Given the description of an element on the screen output the (x, y) to click on. 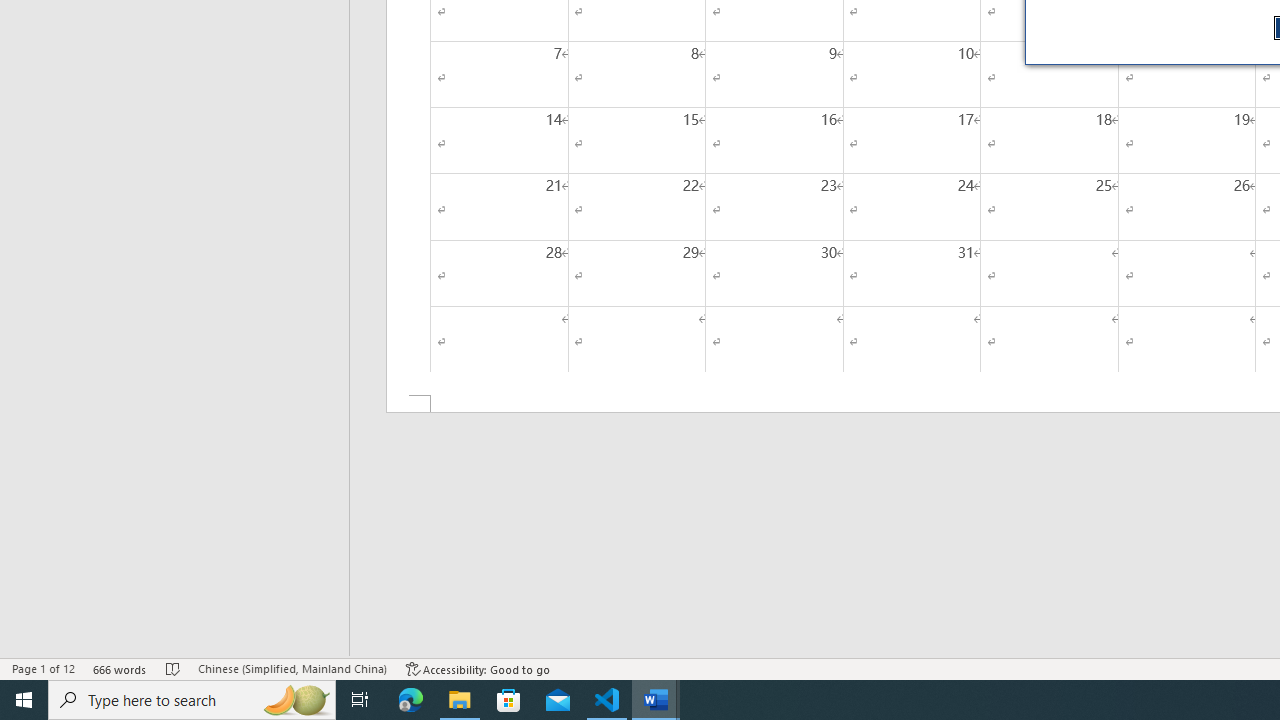
Word Count 666 words (119, 668)
Page Number Page 1 of 12 (43, 668)
File Explorer - 1 running window (460, 699)
Microsoft Edge (411, 699)
Accessibility Checker Accessibility: Good to go (478, 668)
Start (24, 699)
Visual Studio Code - 1 running window (607, 699)
Spelling and Grammar Check No Errors (173, 668)
Type here to search (191, 699)
Task View (359, 699)
Word - 2 running windows (656, 699)
Language Chinese (Simplified, Mainland China) (292, 668)
Search highlights icon opens search home window (295, 699)
